Given the description of an element on the screen output the (x, y) to click on. 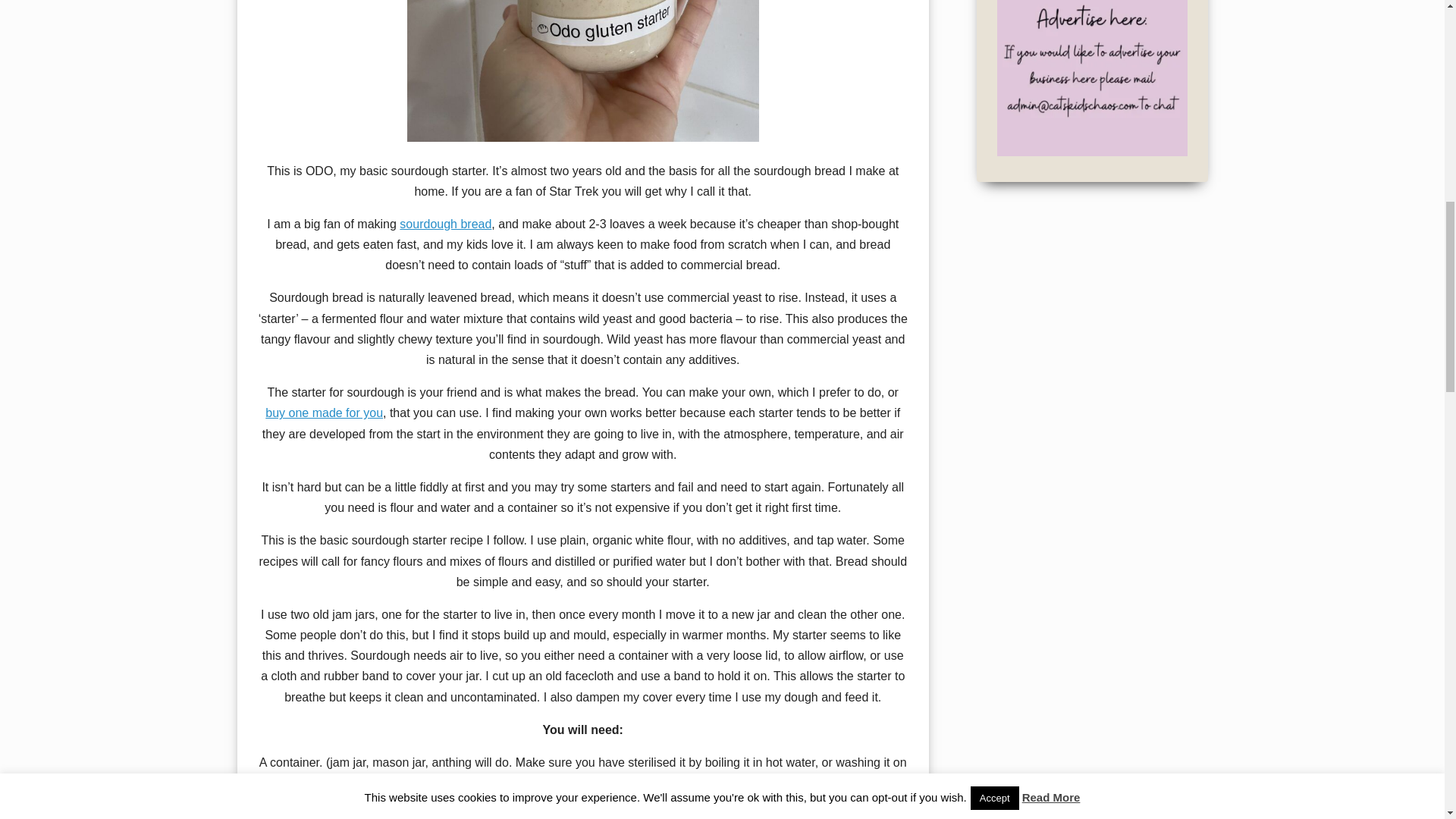
buy one made for you (323, 412)
sourdough bread (445, 223)
